Given the description of an element on the screen output the (x, y) to click on. 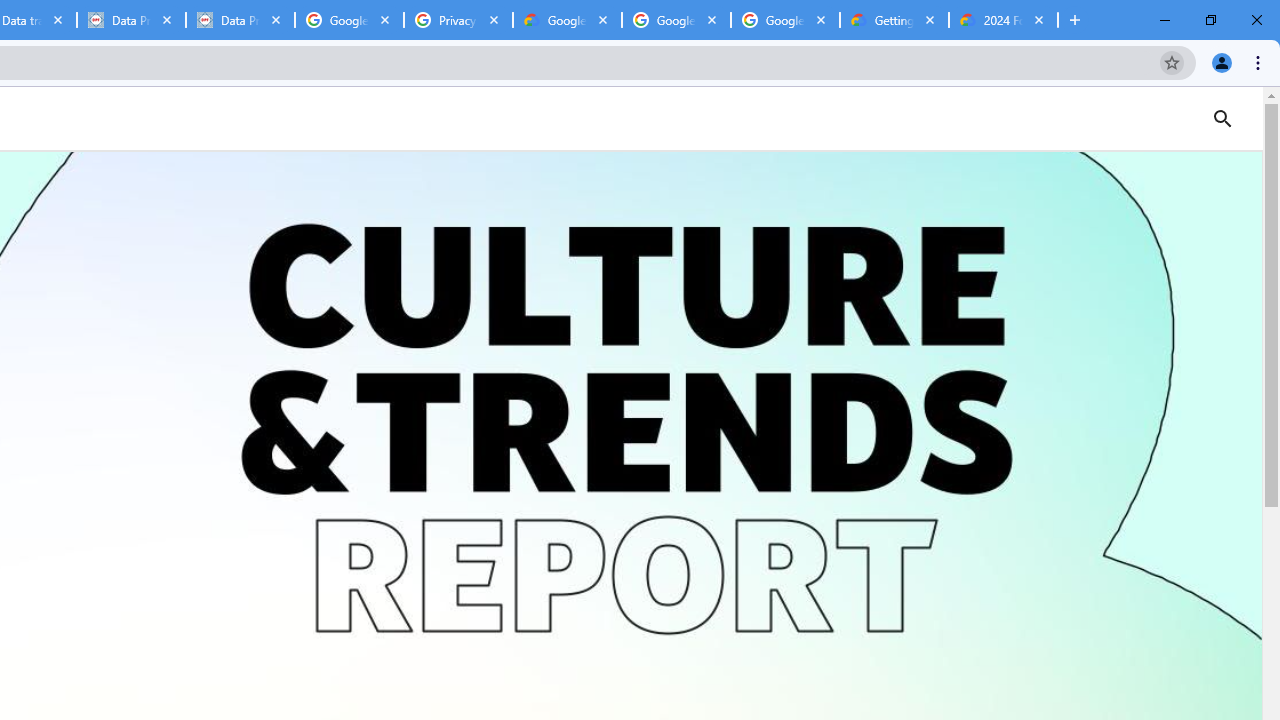
Google Workspace - Specific Terms (784, 20)
Data Privacy Framework (130, 20)
Google Workspace - Specific Terms (676, 20)
